Given the description of an element on the screen output the (x, y) to click on. 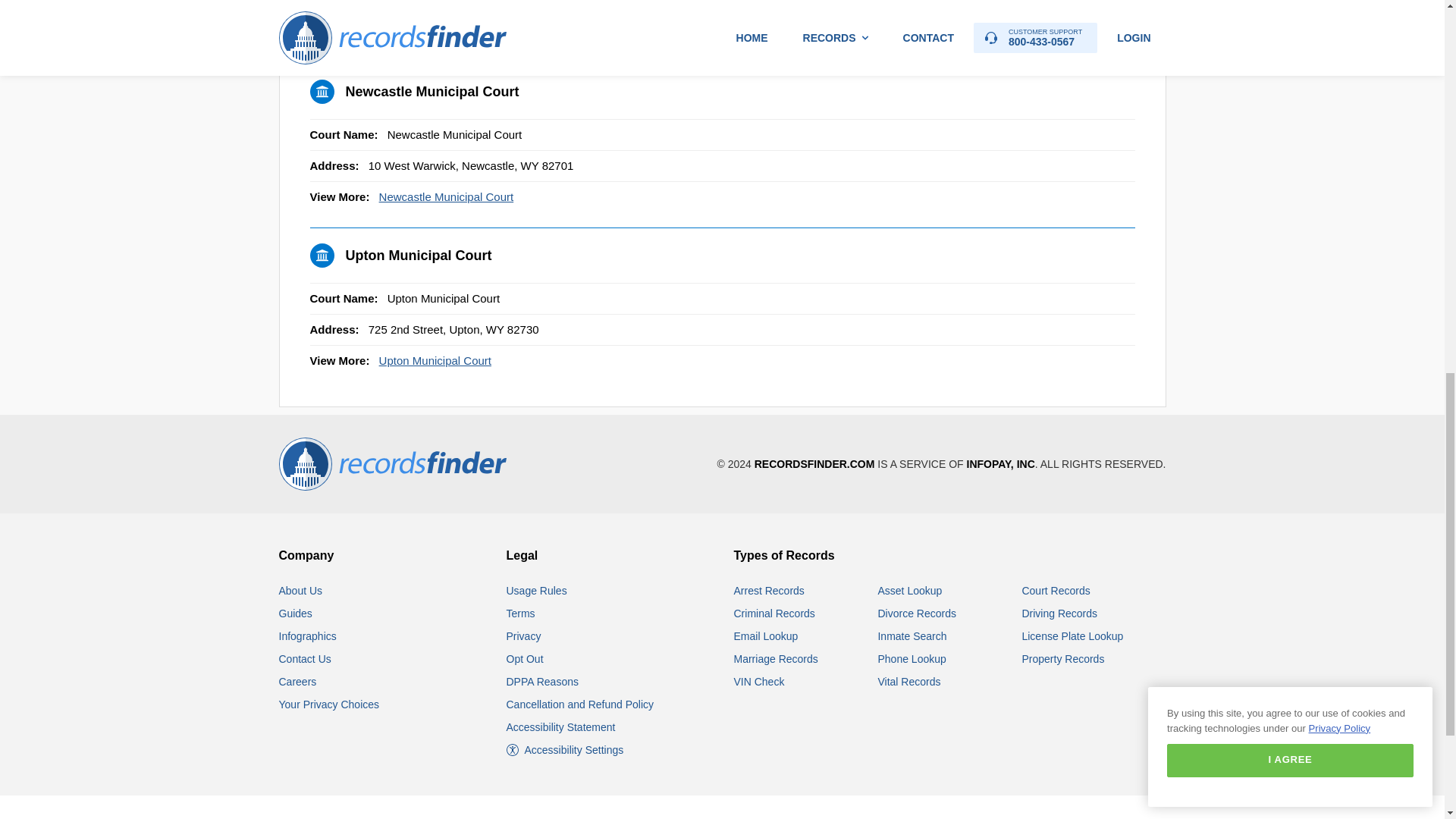
RecordsFinder.com Opt Out Instructions (524, 658)
RecordsFinder.com Terms and Conditions (520, 613)
View Public Records Infographics and Statistics (307, 635)
RecordsFinder.com DPPA Reasons (542, 681)
About RecordsFinder.com (301, 590)
Contact RecordsFinder.com (305, 658)
RecordsFinder.com Accessibility Statement (560, 727)
RecordsFinder.com Privacy Policy (523, 635)
RecordsFinder.com Usage Rules (536, 590)
RecordsFinder.com Cancellation and Refund Policy (579, 704)
